Given the description of an element on the screen output the (x, y) to click on. 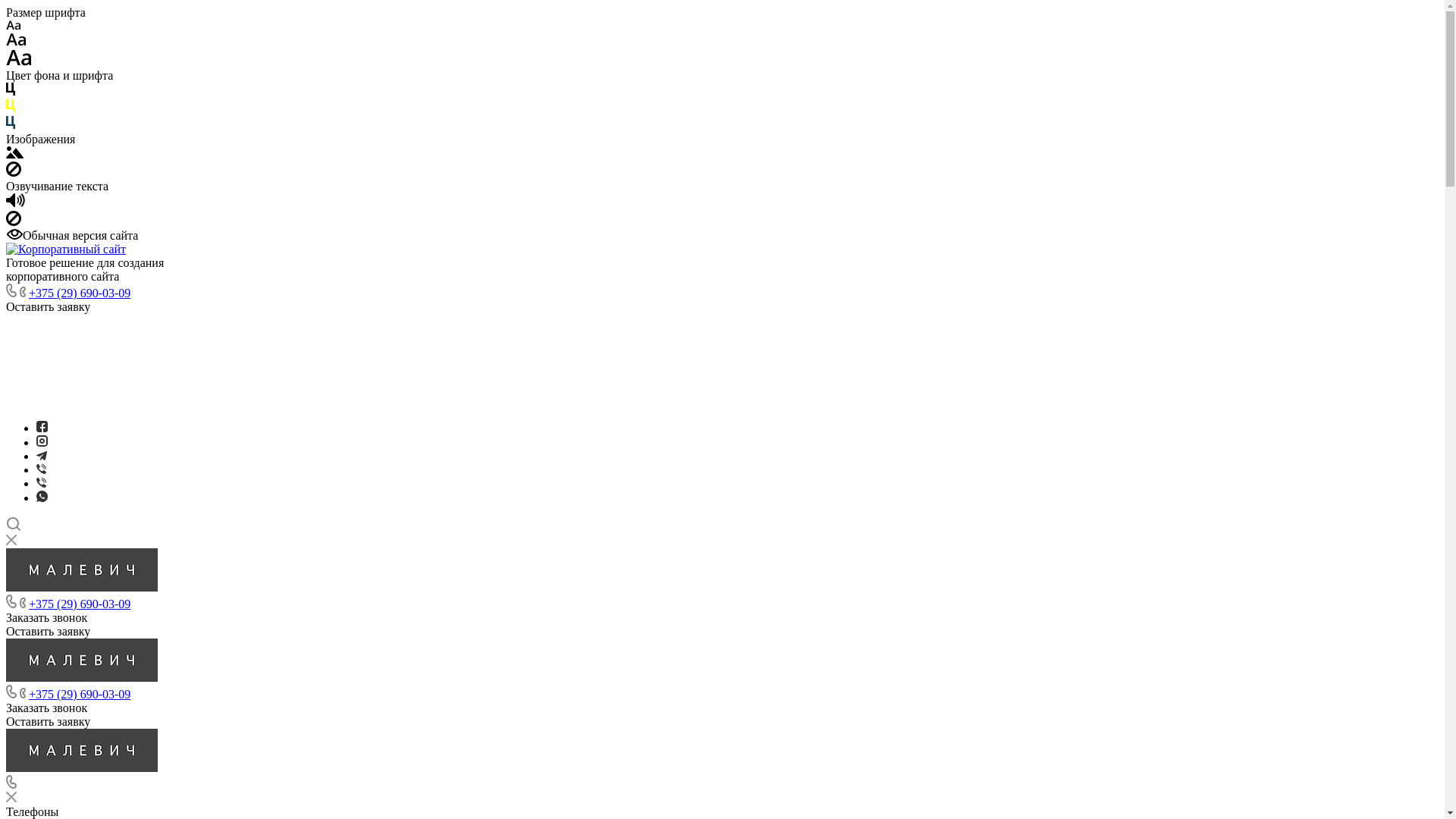
+375 (29) 690-03-09 Element type: text (79, 603)
+375 (29) 690-03-09 Element type: text (79, 693)
Viber Element type: hover (41, 482)
Viber Element type: hover (41, 469)
+375 (29) 690-03-09 Element type: text (79, 292)
Instagram Element type: hover (41, 442)
Facebook Element type: hover (41, 427)
Telegram Element type: hover (41, 455)
Whats App Element type: hover (41, 497)
